Given the description of an element on the screen output the (x, y) to click on. 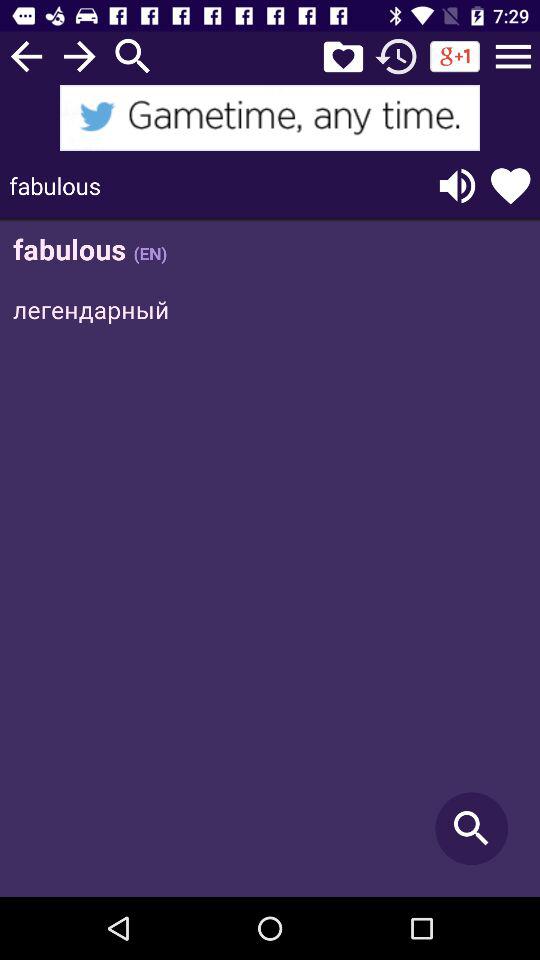
save to favorites (343, 56)
